Given the description of an element on the screen output the (x, y) to click on. 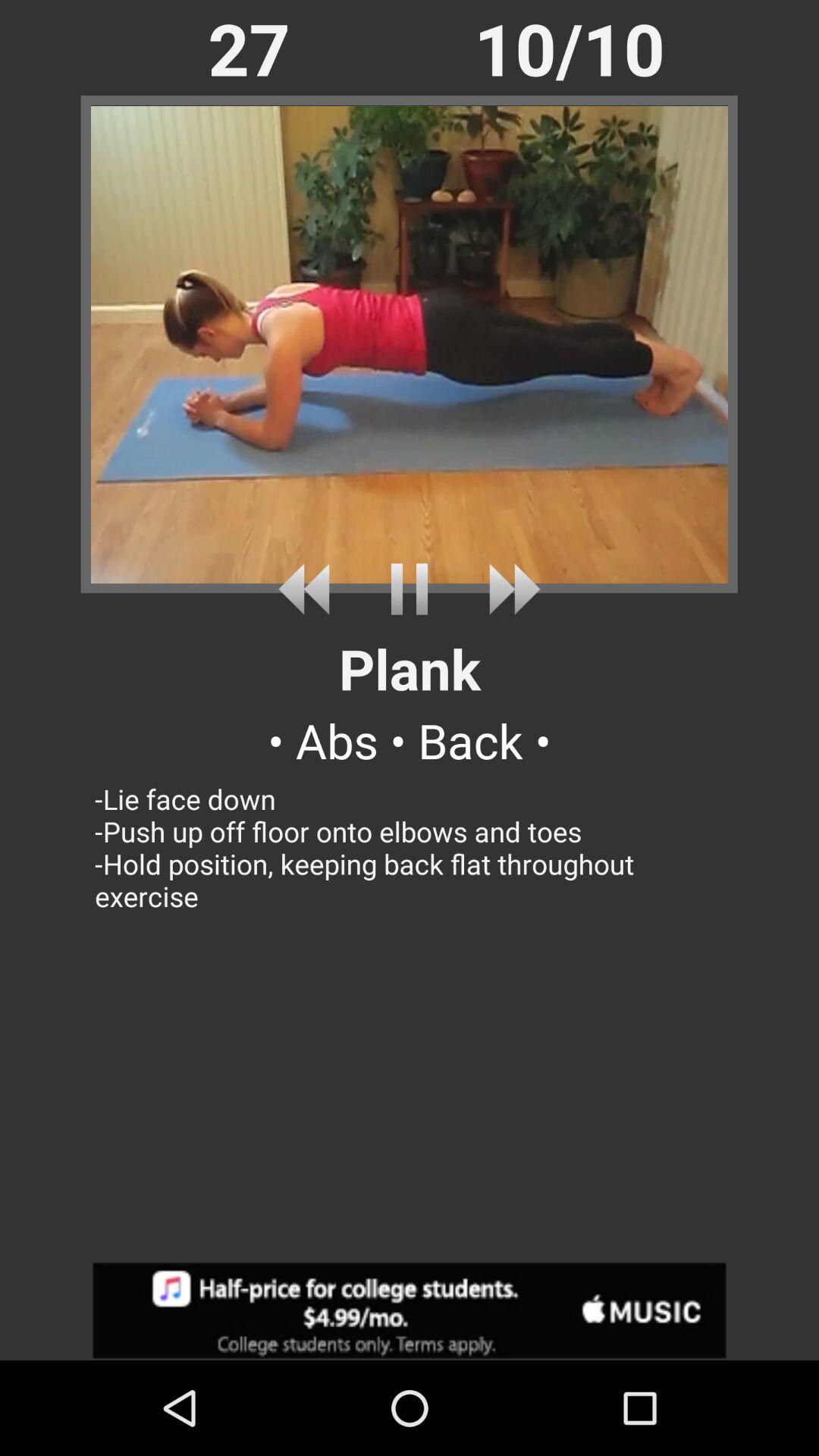
go to next (508, 589)
